Given the description of an element on the screen output the (x, y) to click on. 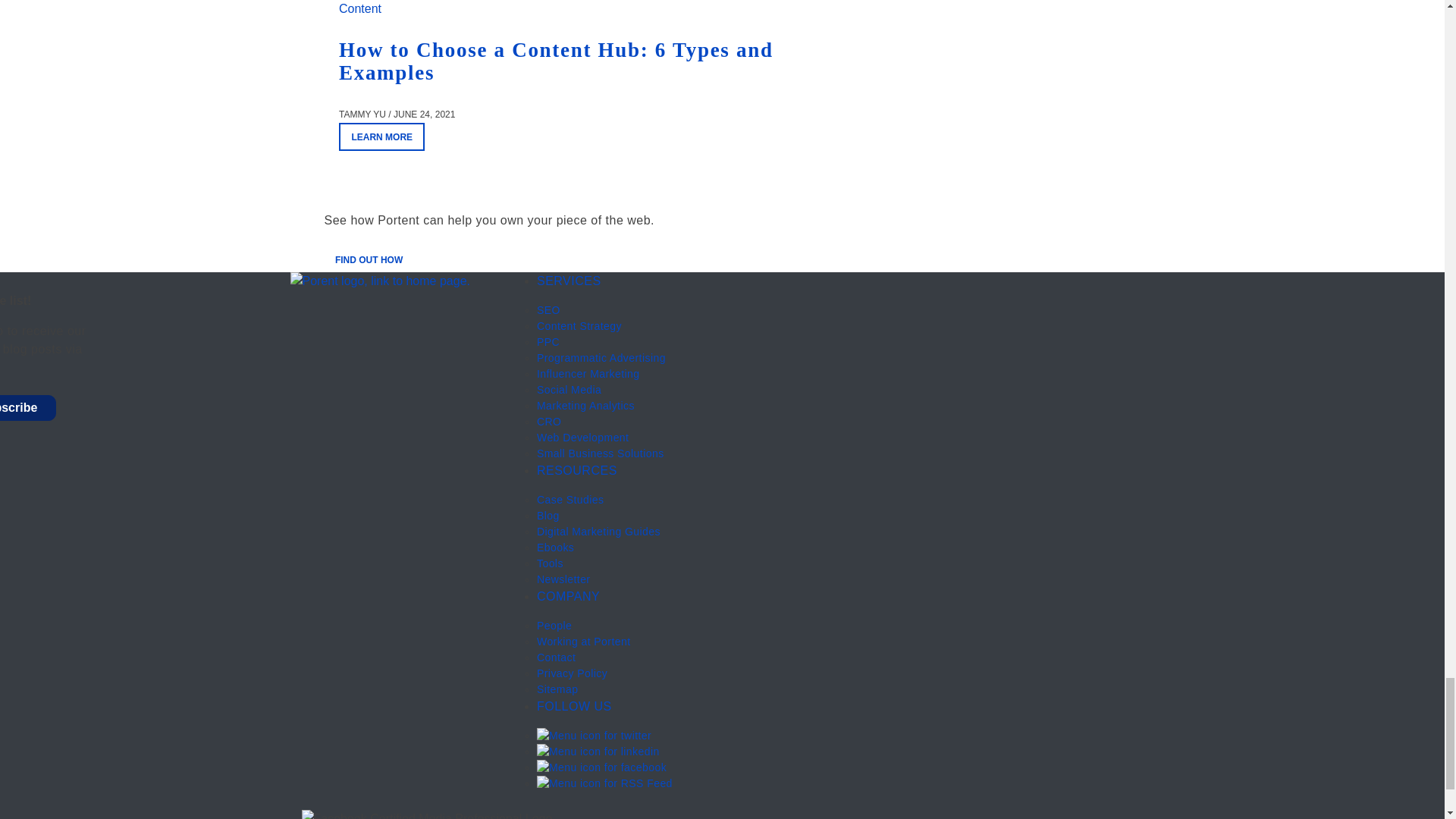
Read article (556, 61)
View archive for Content category (360, 8)
View profile for Tammy Yu (362, 113)
Read article (382, 135)
